Given the description of an element on the screen output the (x, y) to click on. 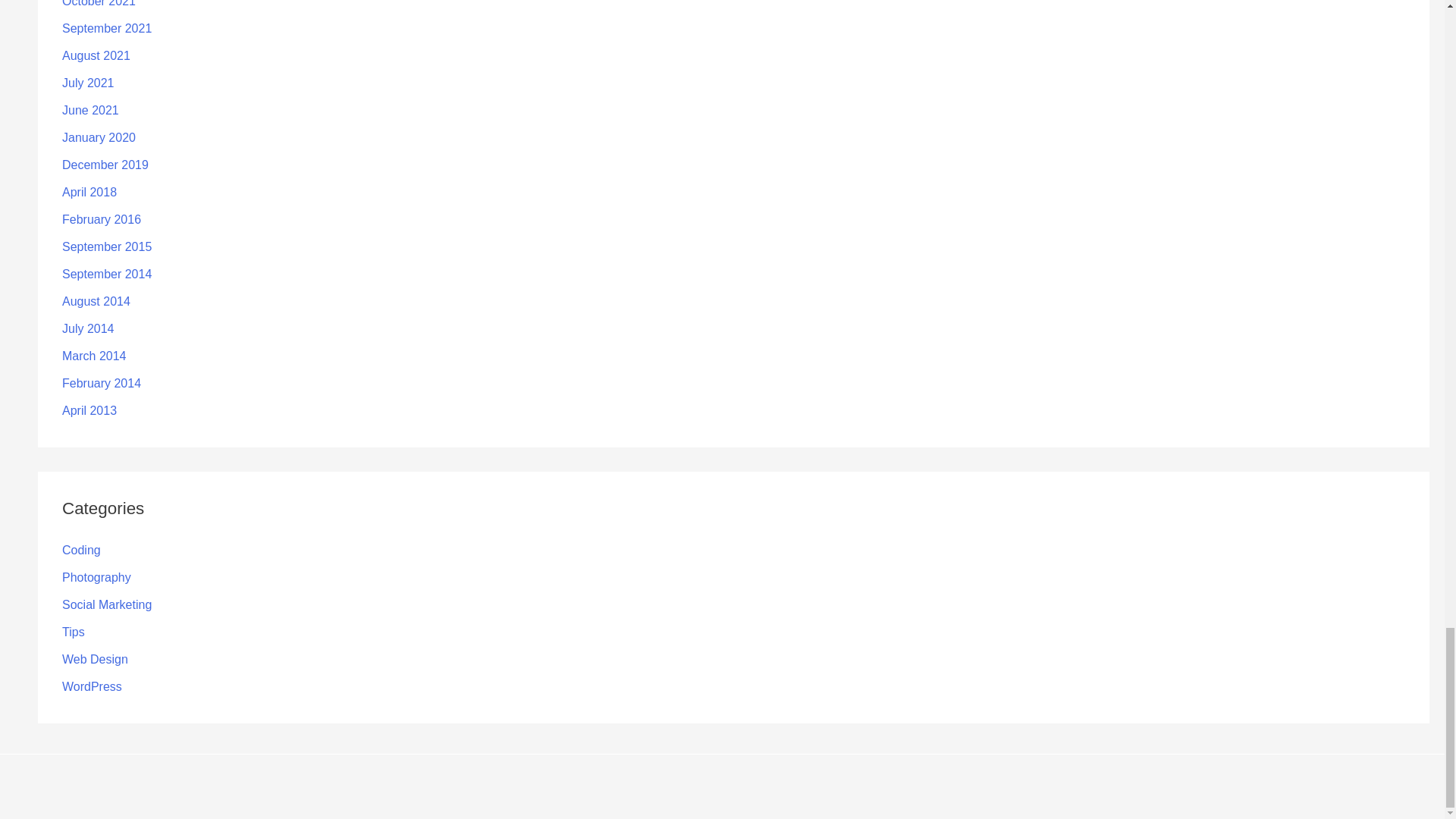
June 2021 (90, 110)
September 2015 (106, 246)
September 2014 (106, 273)
September 2021 (106, 28)
December 2019 (105, 164)
July 2021 (88, 82)
January 2020 (98, 137)
August 2021 (96, 55)
October 2021 (98, 3)
February 2016 (101, 219)
August 2014 (96, 300)
April 2018 (89, 192)
